Given the description of an element on the screen output the (x, y) to click on. 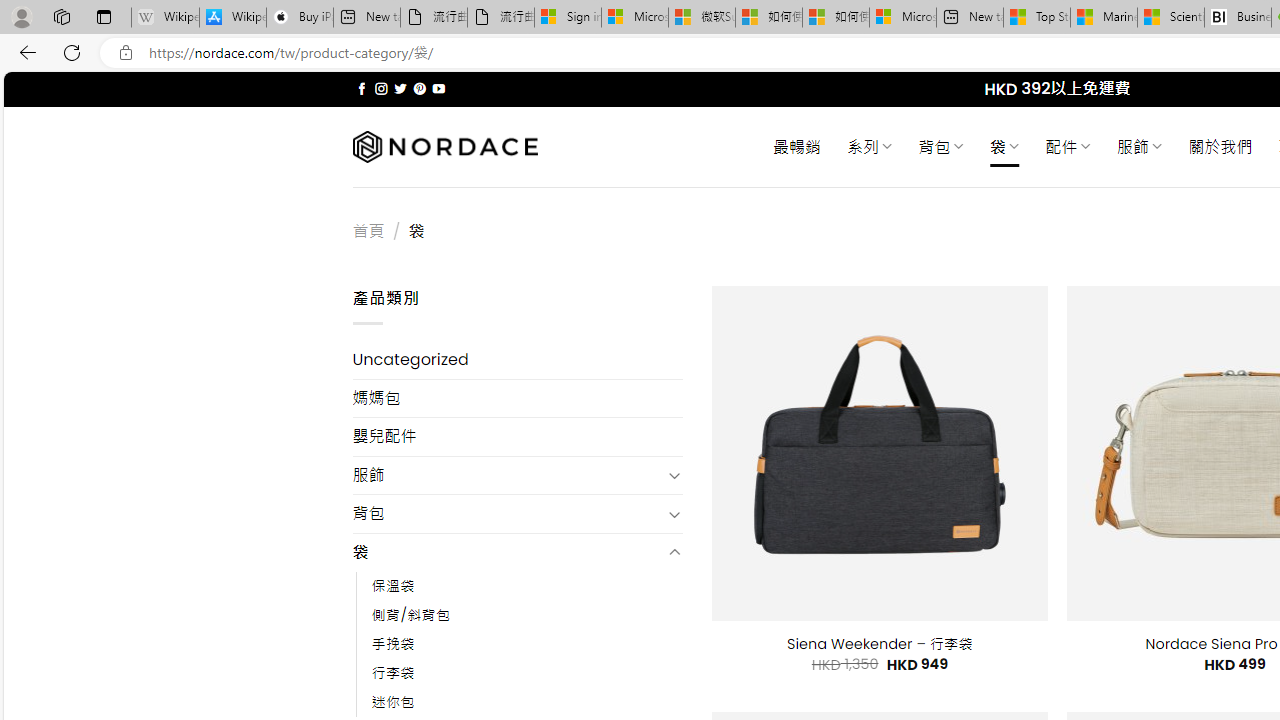
Follow on YouTube (438, 88)
Microsoft account | Account Checkup (902, 17)
